Given the description of an element on the screen output the (x, y) to click on. 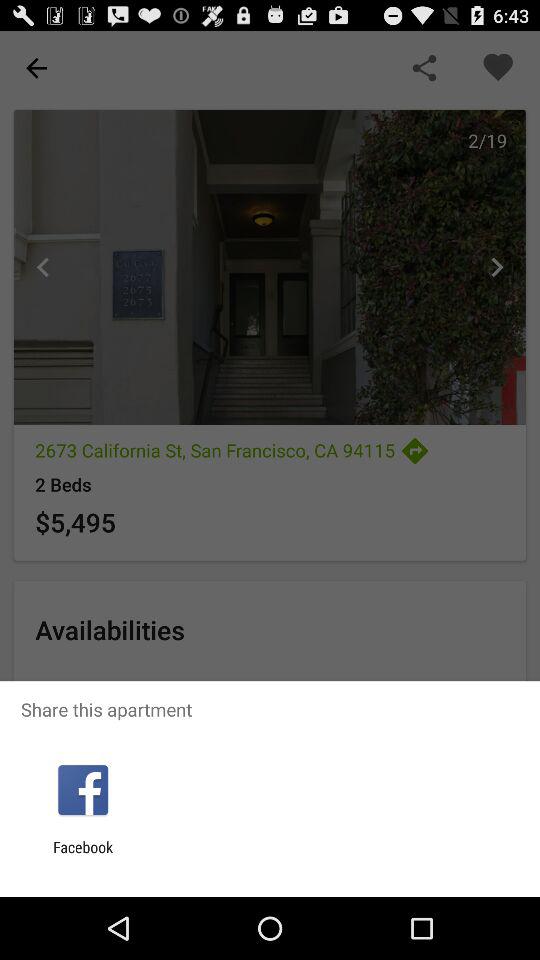
open the icon above facebook icon (82, 789)
